Given the description of an element on the screen output the (x, y) to click on. 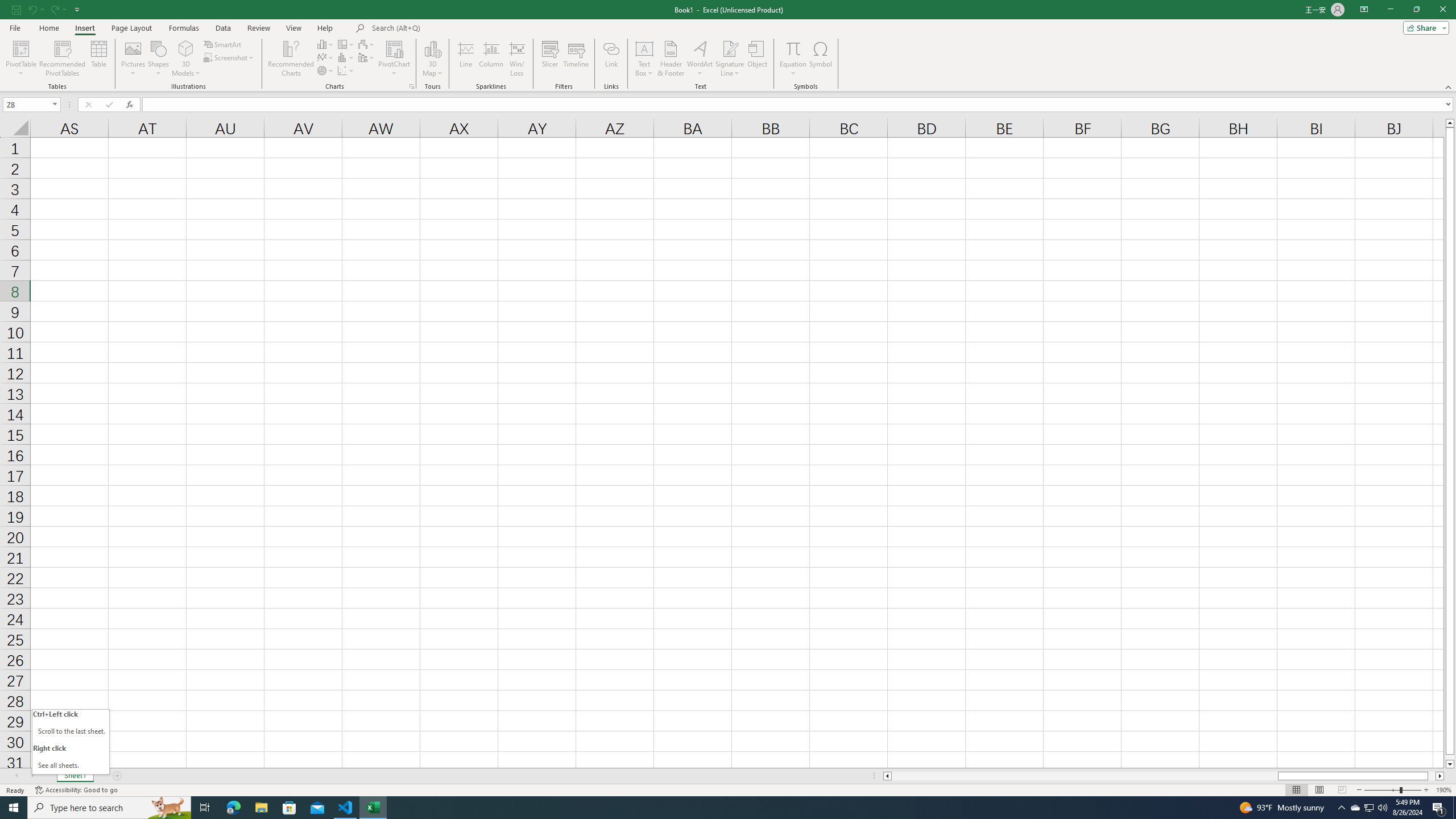
Insert (83, 28)
Formula Bar (798, 104)
WordArt (699, 58)
Insert Pie or Doughnut Chart (325, 69)
Normal (1296, 790)
Sheet1 (74, 775)
3D Models (186, 48)
SmartArt... (223, 44)
Class: MsoCommandBar (728, 45)
Class: NetUIScrollBar (1163, 775)
Insert Statistic Chart (346, 56)
PivotChart (394, 58)
